Given the description of an element on the screen output the (x, y) to click on. 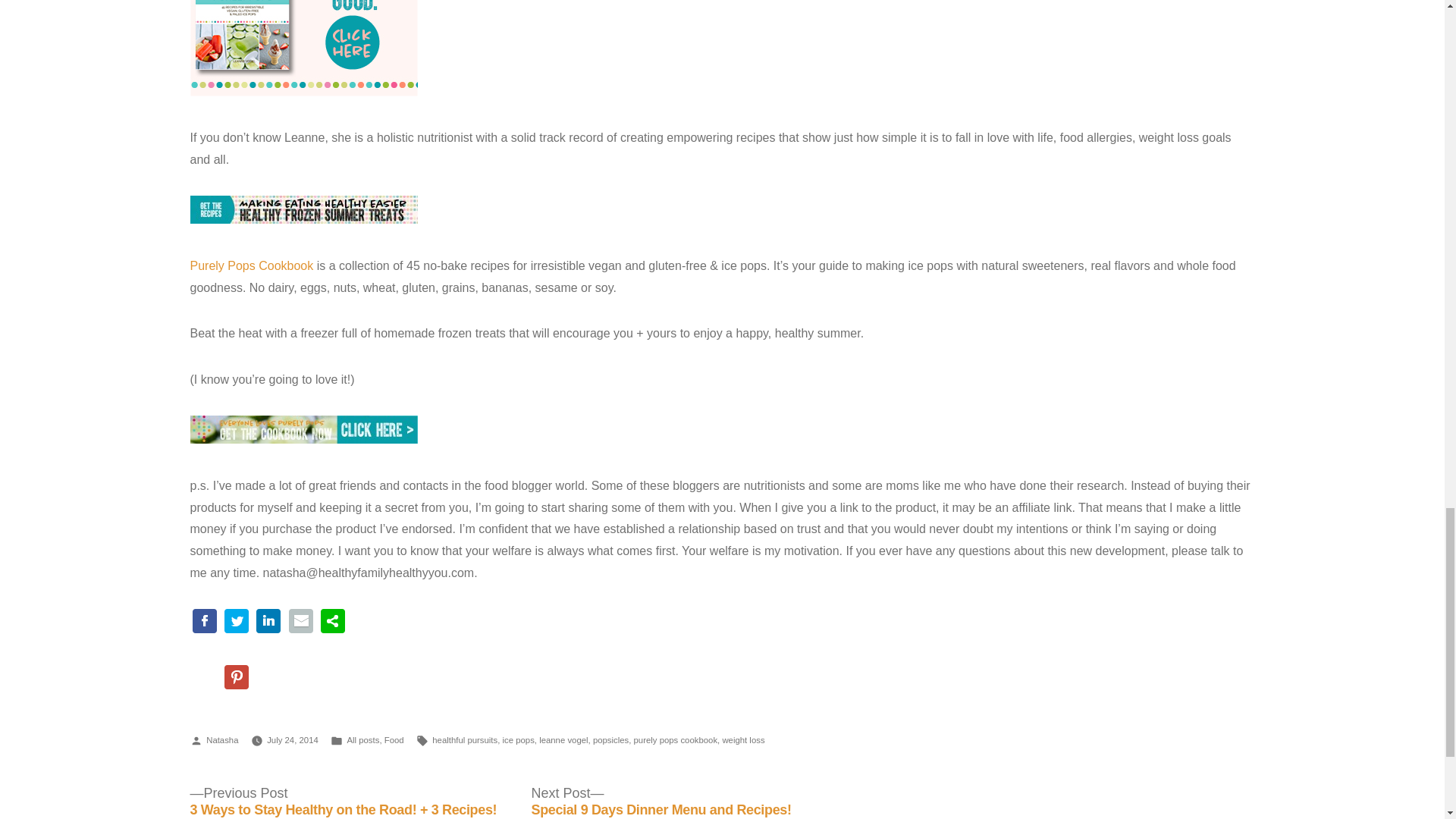
Purely Pops Cookbook (251, 265)
leanne vogel (563, 739)
popsicles (610, 739)
All posts (362, 739)
purely pops cookbook (675, 739)
weight loss (743, 739)
healthful pursuits (464, 739)
ice pops (518, 739)
July 24, 2014 (292, 739)
